Given the description of an element on the screen output the (x, y) to click on. 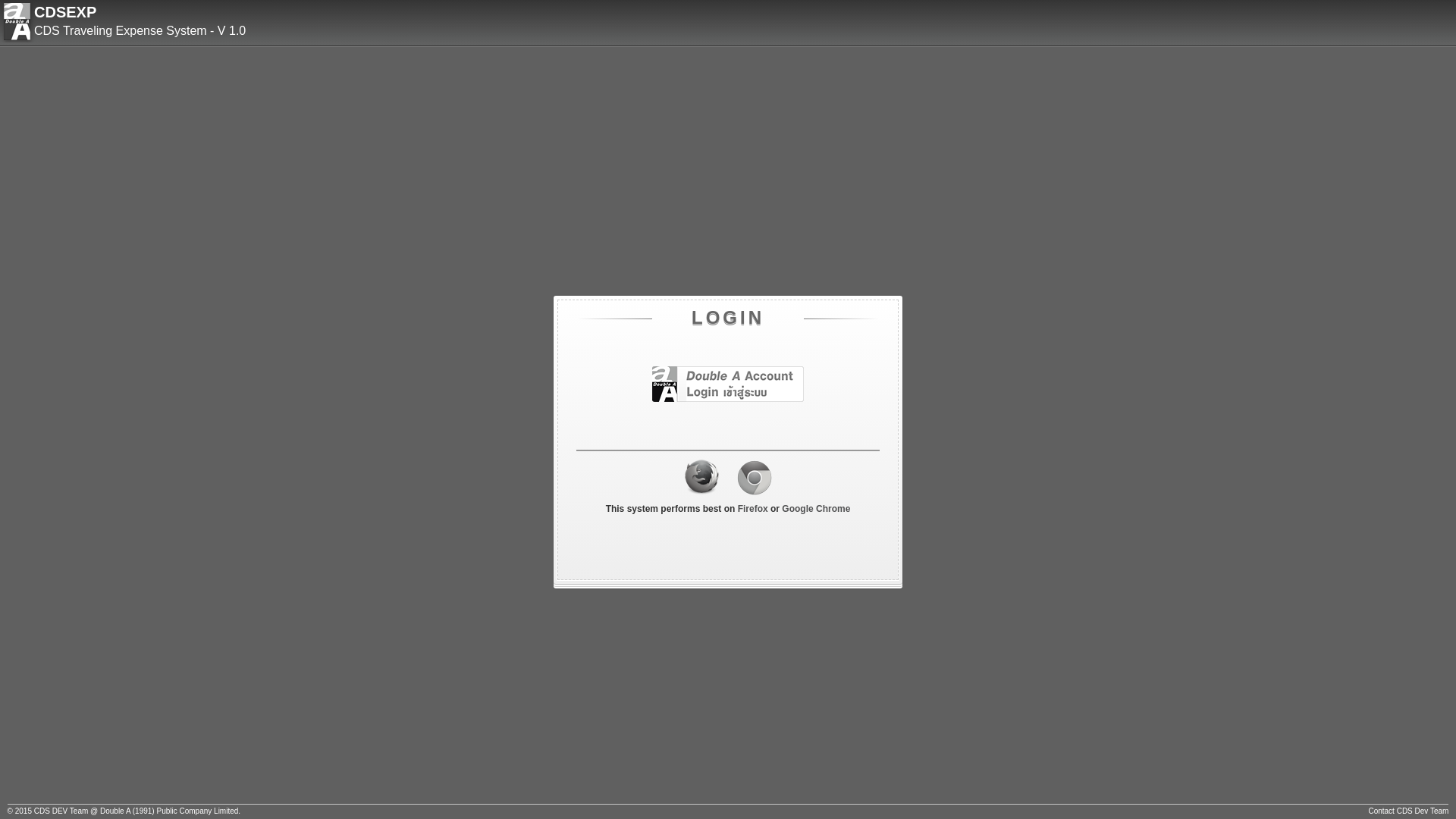
Firefox Element type: text (752, 508)
Contact CDS Dev Team Element type: text (1408, 810)
Google Chrome Element type: text (815, 508)
